Given the description of an element on the screen output the (x, y) to click on. 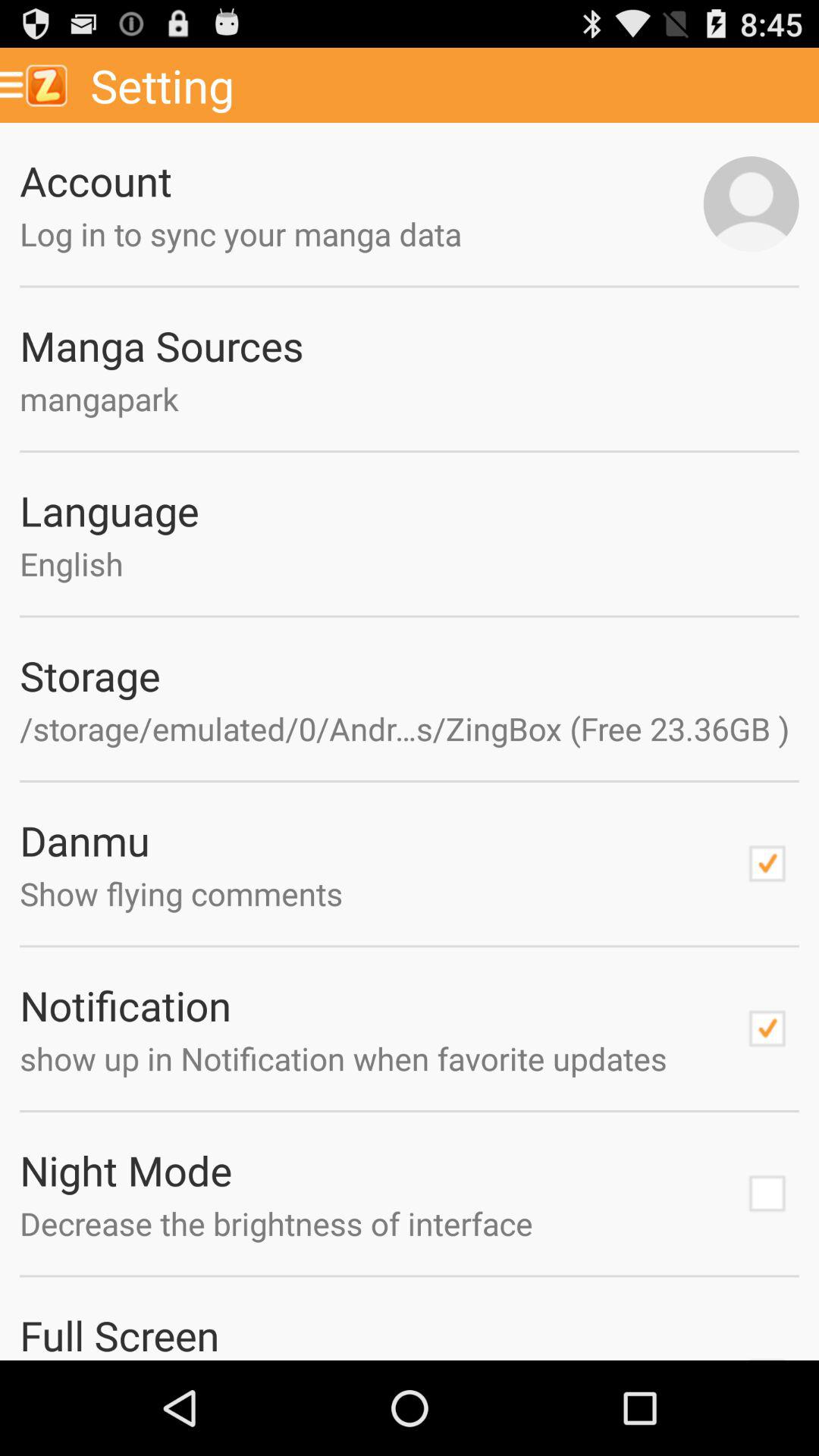
toggle night mode (767, 1193)
